Given the description of an element on the screen output the (x, y) to click on. 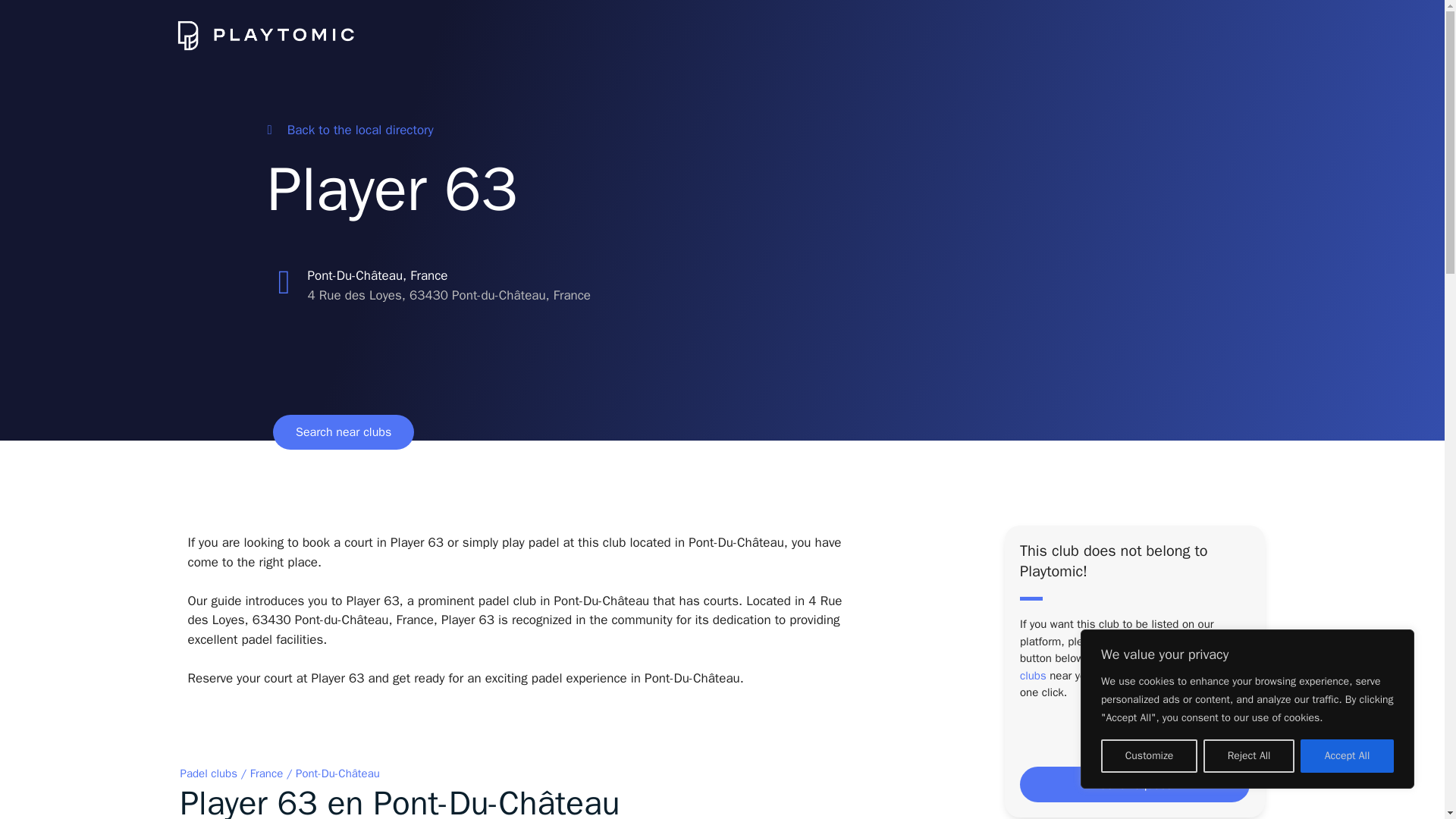
Customize (1148, 756)
France (266, 773)
Accept All (1346, 756)
Send request (1134, 784)
Padel clubs (208, 773)
Reject All (1249, 756)
Back to the local directory (349, 130)
search for other clubs (1128, 666)
Search near clubs (343, 431)
